Given the description of an element on the screen output the (x, y) to click on. 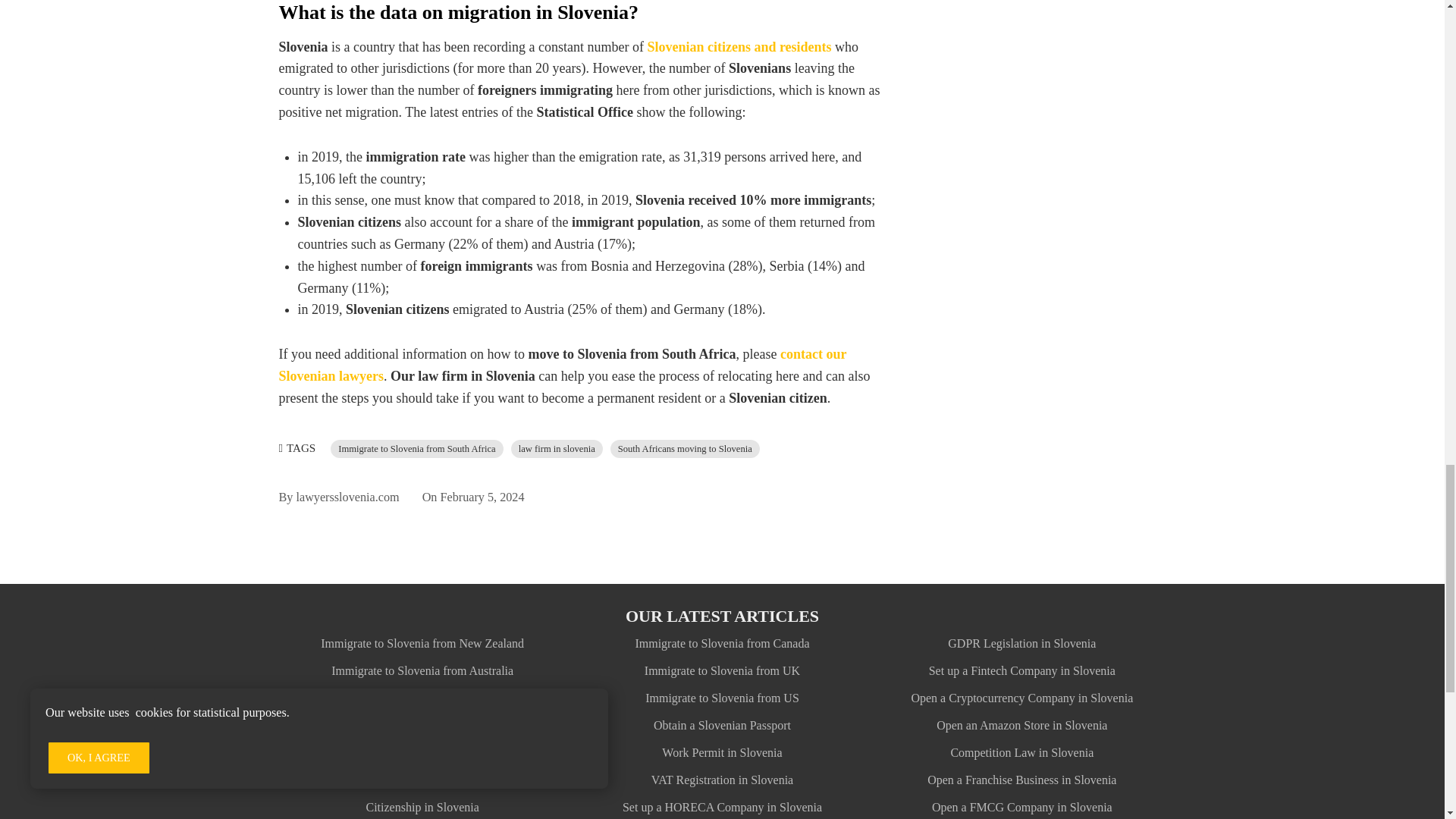
contact our Slovenian lawyers (563, 365)
Slovenian citizens and residents (738, 46)
